Given the description of an element on the screen output the (x, y) to click on. 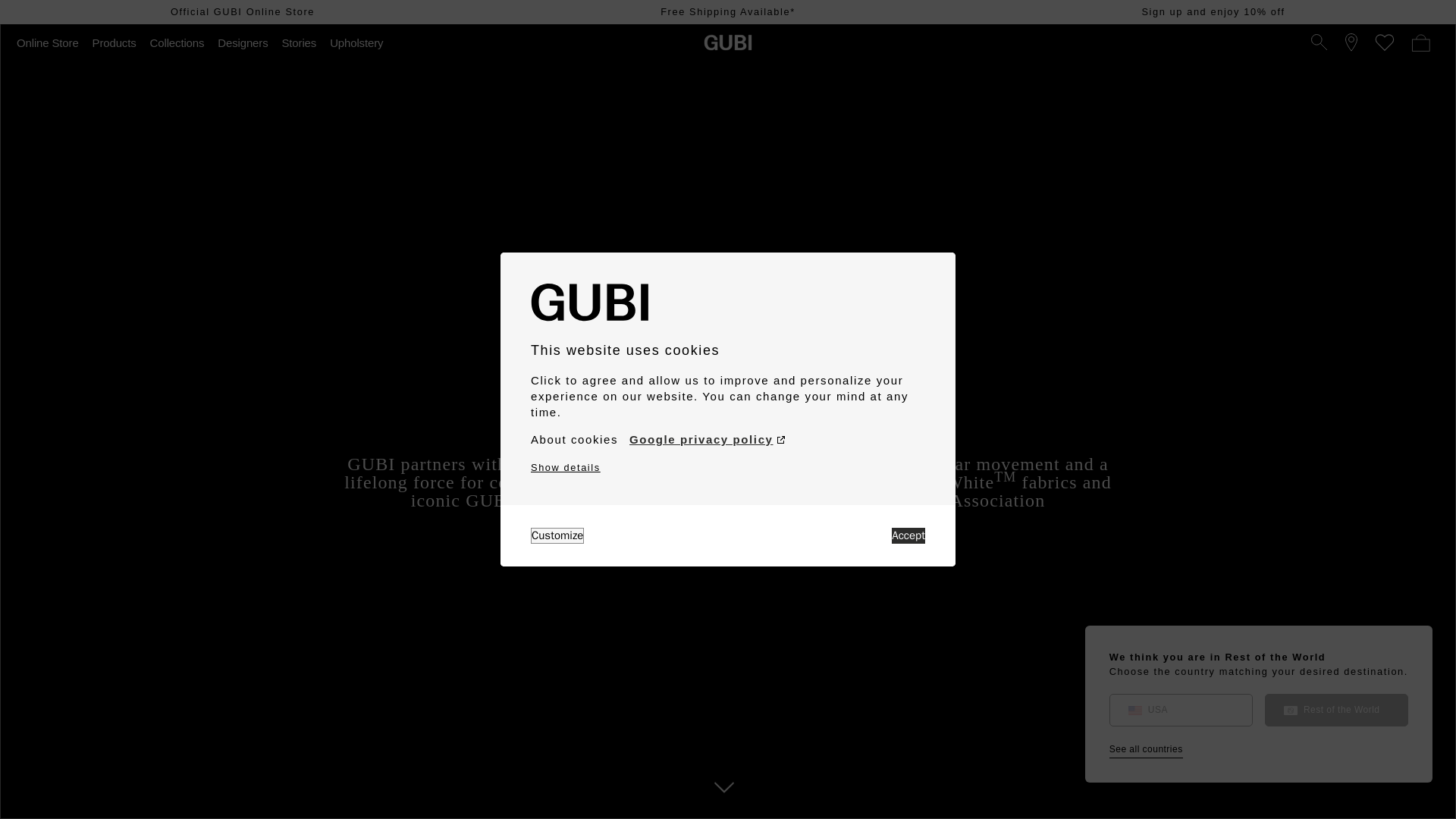
About cookies (574, 439)
Show details (565, 467)
Google privacy policy (707, 439)
